Given the description of an element on the screen output the (x, y) to click on. 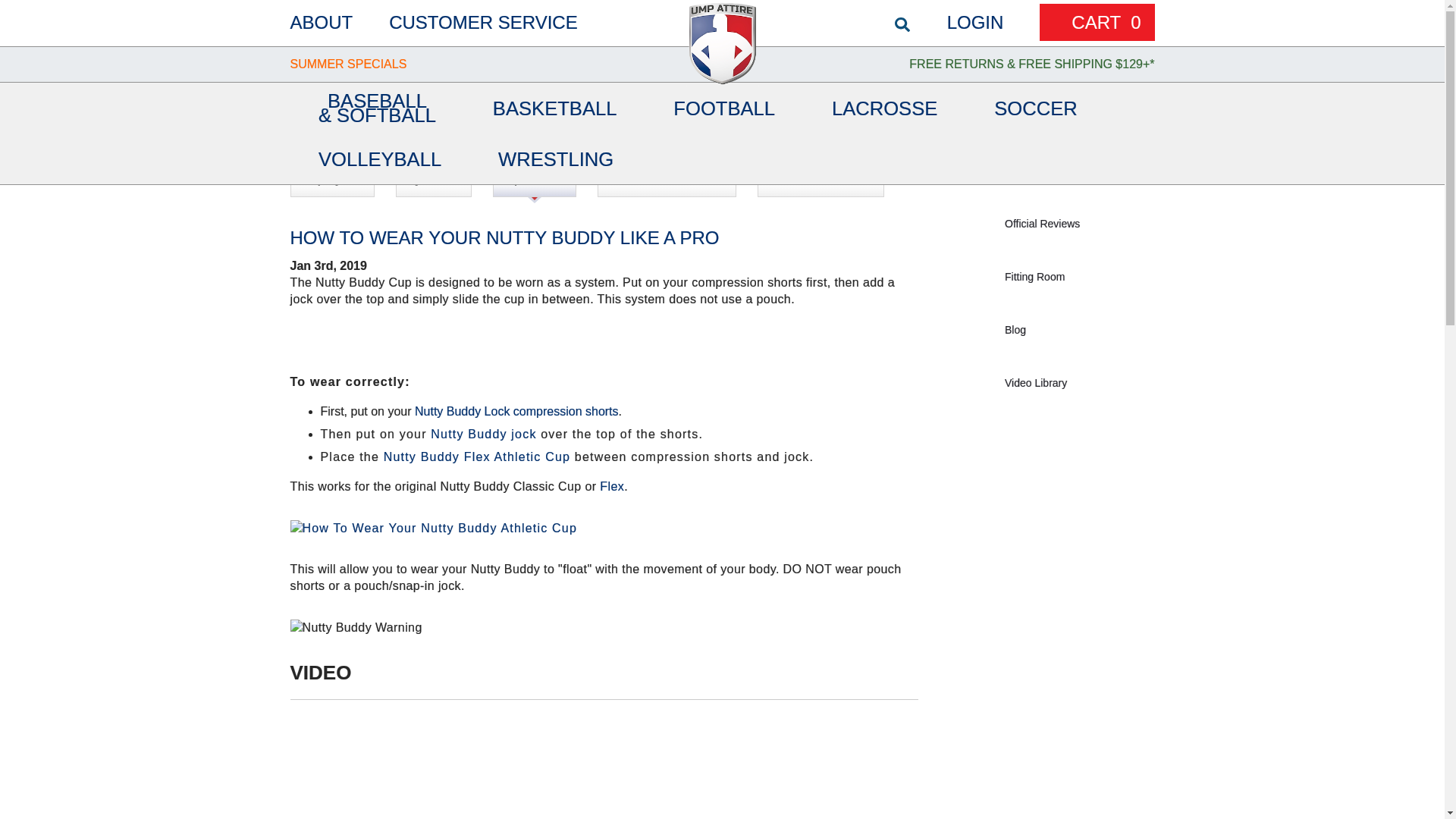
submit (1420, 59)
SUMMER SPECIALS (347, 63)
LOGIN (975, 22)
CART  0 (1096, 22)
ABOUT (320, 22)
FREE RETURNS (955, 63)
CUSTOMER SERVICE (483, 22)
